Given the description of an element on the screen output the (x, y) to click on. 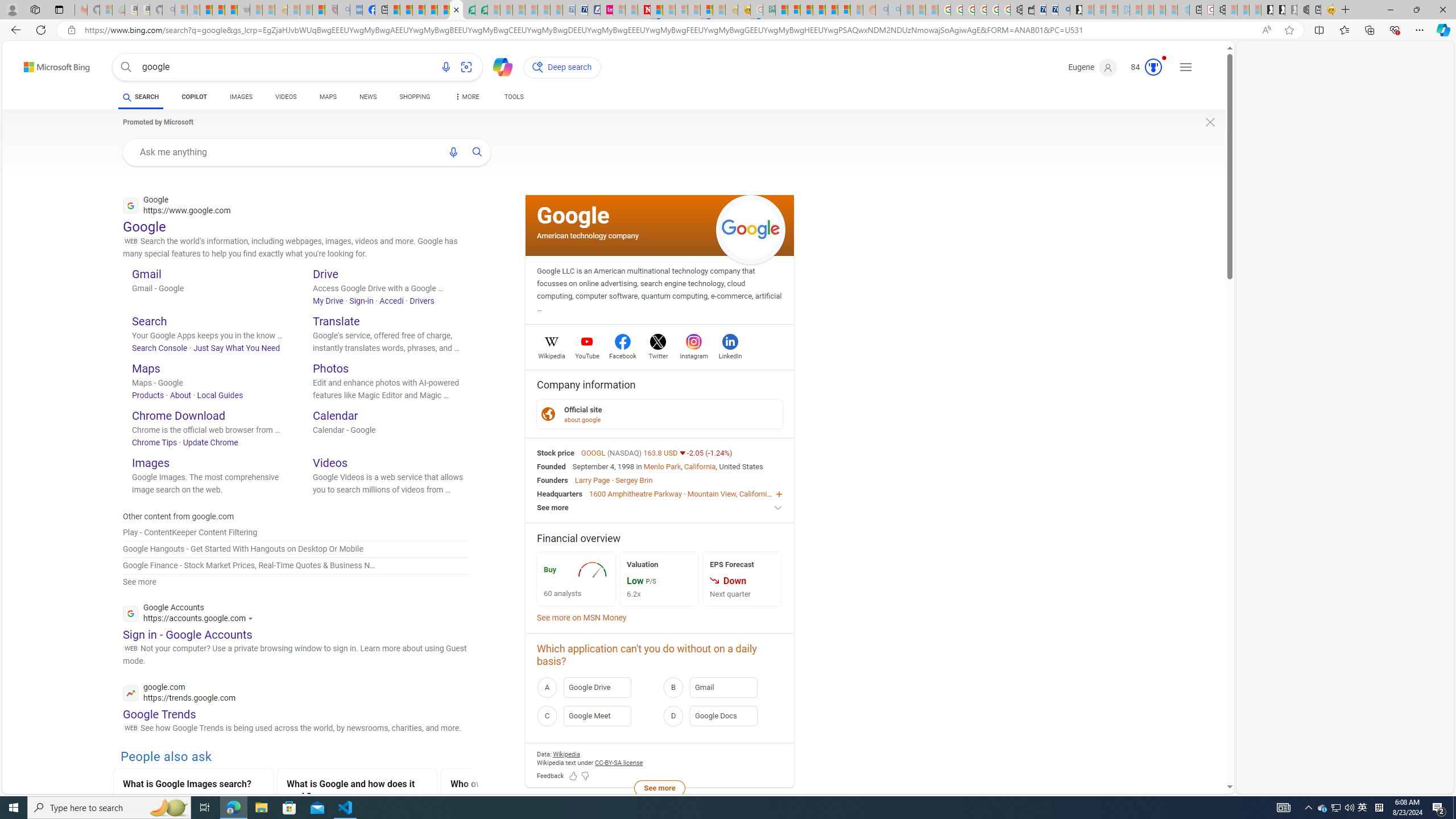
NEWS (367, 96)
AutomationID: serp_medal_svg (1152, 67)
1600 Amphitheatre Parkway (635, 492)
See more on MSN Money (581, 617)
Valuation Low P/S 6.2x (659, 579)
Larry Page (592, 479)
SHOPPING (414, 98)
A Google Drive (596, 687)
CalendarCalendar - Google (390, 432)
Feedback Dislike (584, 775)
